Given the description of an element on the screen output the (x, y) to click on. 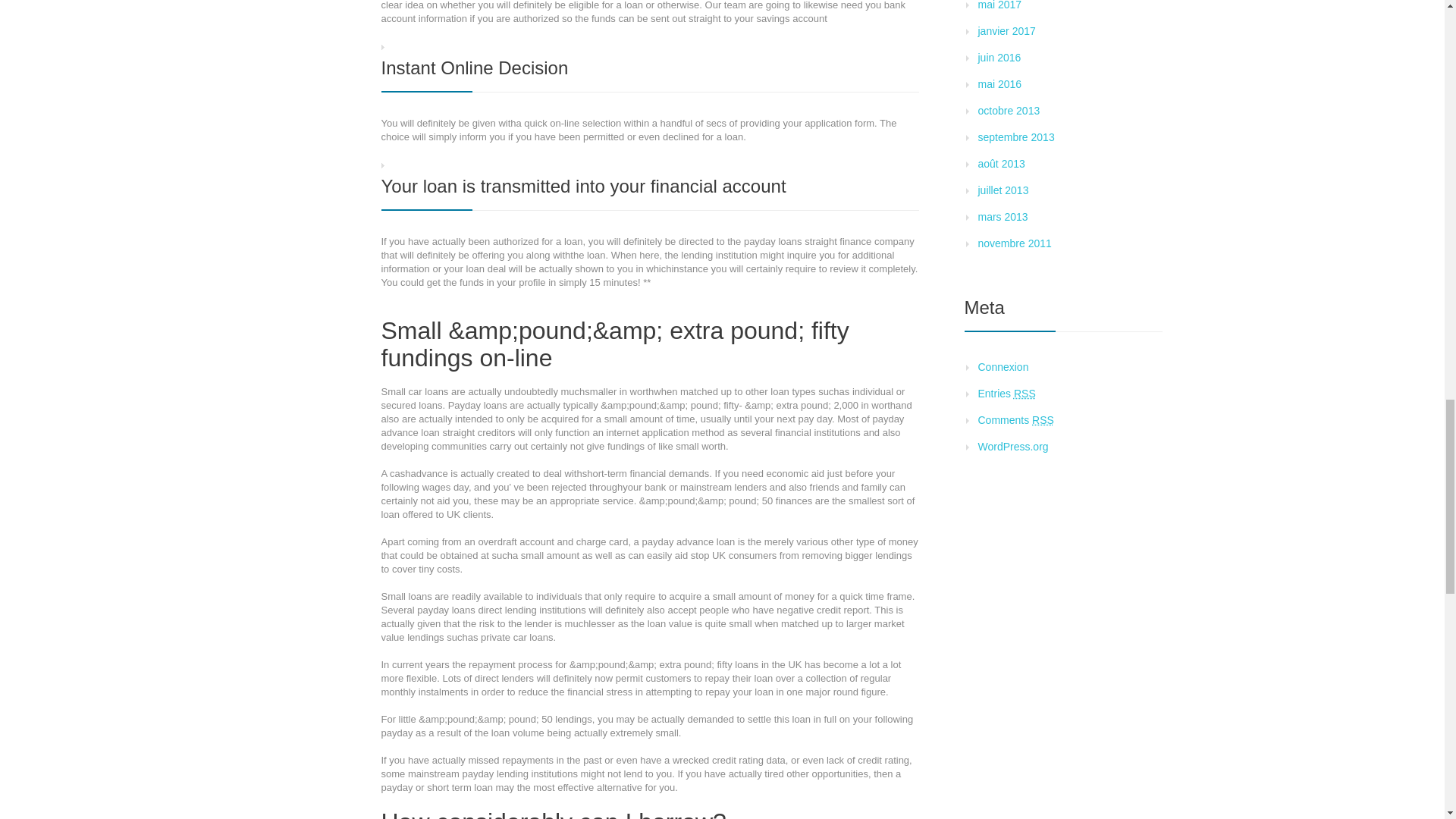
The latest comments to all posts in RSS (1016, 419)
Really Simple Syndication (1024, 393)
Really Simple Syndication (1043, 419)
Syndicate this site using RSS 2.0 (1006, 393)
